Given the description of an element on the screen output the (x, y) to click on. 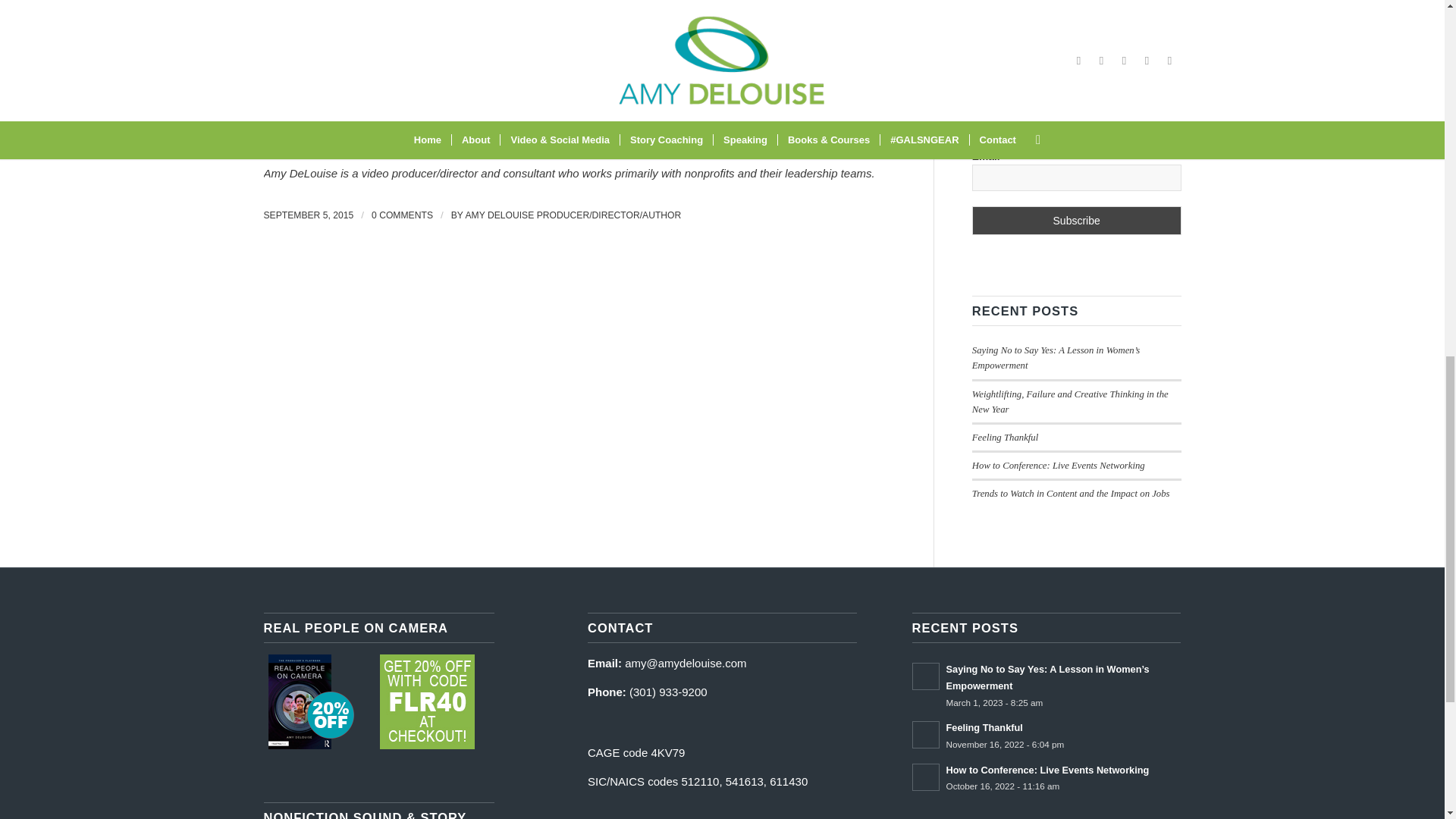
REAL PEOPLE ON CAMERA (427, 701)
Trends to Watch in Content and the Impact on Jobs (1071, 493)
Subscribe (1076, 220)
REAL PEOPLE ON CAMERA (310, 701)
Subscribe (1076, 220)
Feeling Thankful (1005, 437)
How to Conference: Live Events Networking (1058, 465)
0 COMMENTS (401, 214)
Weightlifting, Failure and Creative Thinking in the New Year (1070, 401)
